Given the description of an element on the screen output the (x, y) to click on. 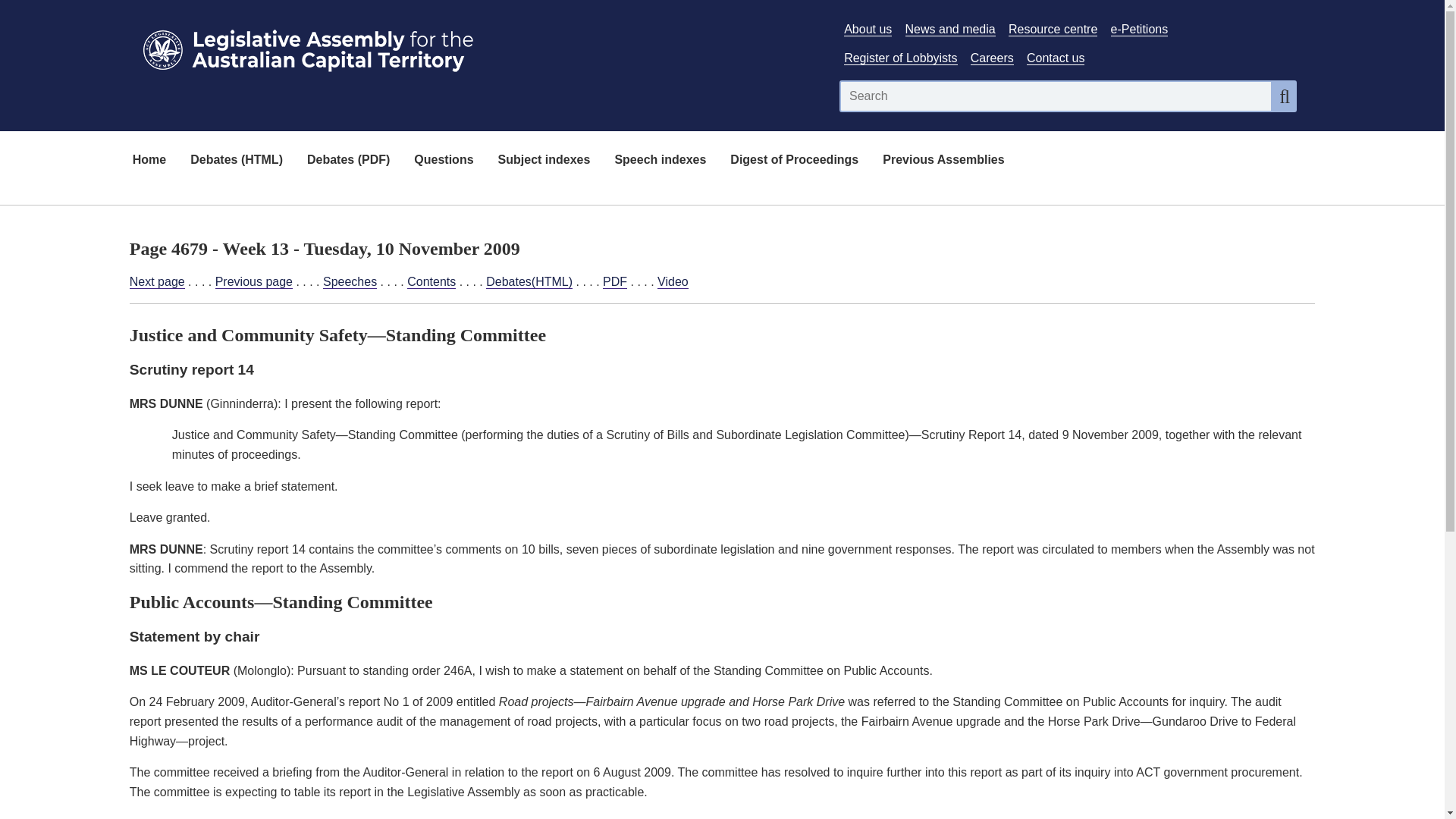
Link to Register of Lobbyists (900, 58)
Video (673, 282)
News and media (950, 29)
Subject indexes (544, 160)
Link to Resource centre (1053, 29)
Careers (992, 58)
Register of Lobbyists (900, 58)
Next page (156, 282)
Resource centre (1053, 29)
Speech indexes (659, 160)
About us (867, 29)
Home (148, 160)
e-Petitions (1139, 29)
Link to News and media (950, 29)
PDF (614, 282)
